Given the description of an element on the screen output the (x, y) to click on. 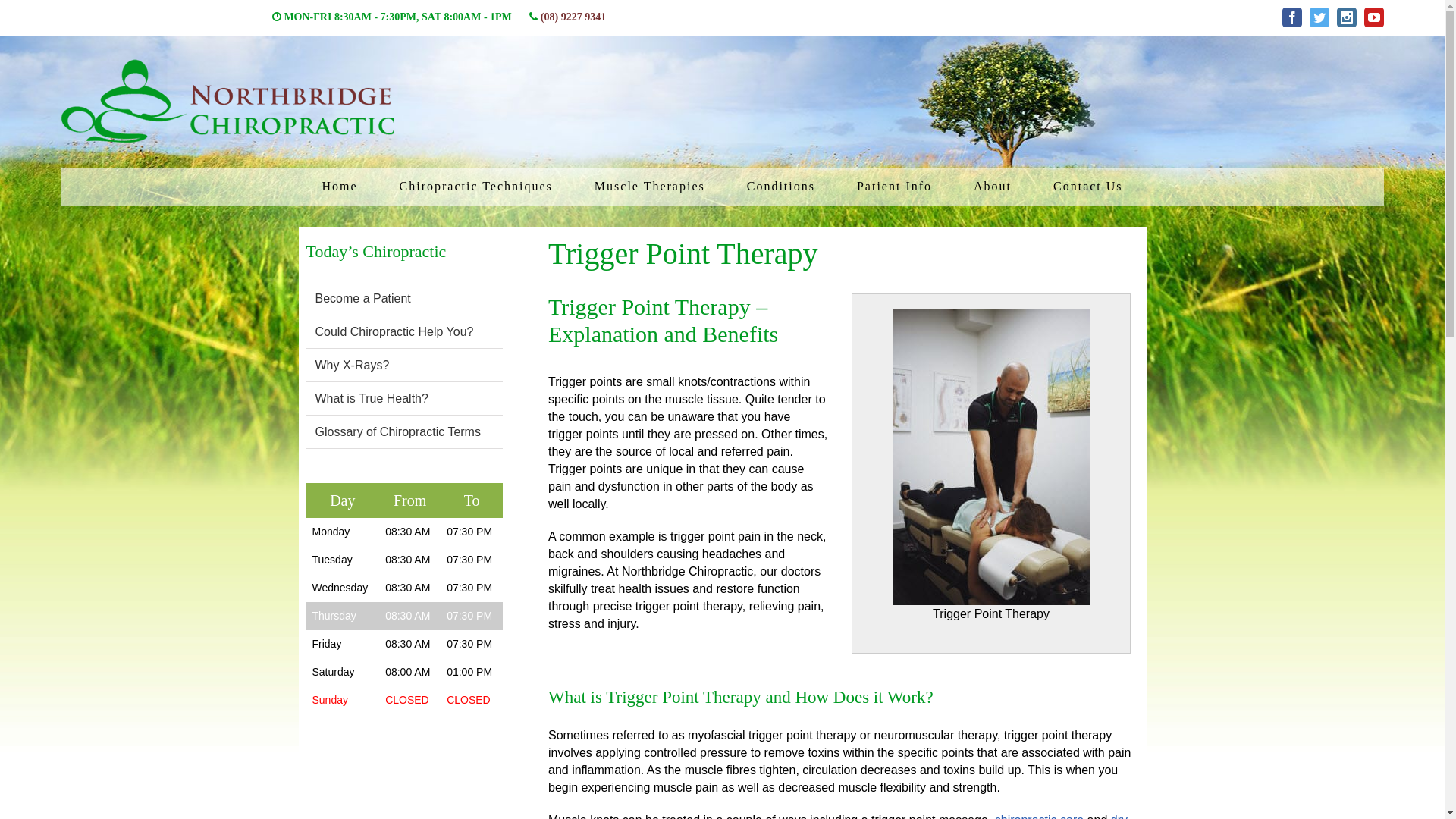
What is True Health? Element type: text (371, 398)
About Element type: text (992, 186)
Twitter Element type: text (1319, 17)
Chiropractic Techniques Element type: text (476, 186)
Conditions Element type: text (780, 186)
Instagram Element type: text (1346, 17)
Facebook Element type: text (1292, 17)
Why X-Rays? Element type: text (352, 364)
Could Chiropractic Help You? Element type: text (394, 331)
Become a Patient Element type: text (363, 297)
(08) 9227 9341 Element type: text (572, 16)
Youtube Element type: text (1373, 17)
Muscle Therapies Element type: text (649, 186)
Home Element type: text (339, 186)
Contact Us Element type: text (1087, 186)
Patient Info Element type: text (894, 186)
Glossary of Chiropractic Terms Element type: text (397, 431)
